Given the description of an element on the screen output the (x, y) to click on. 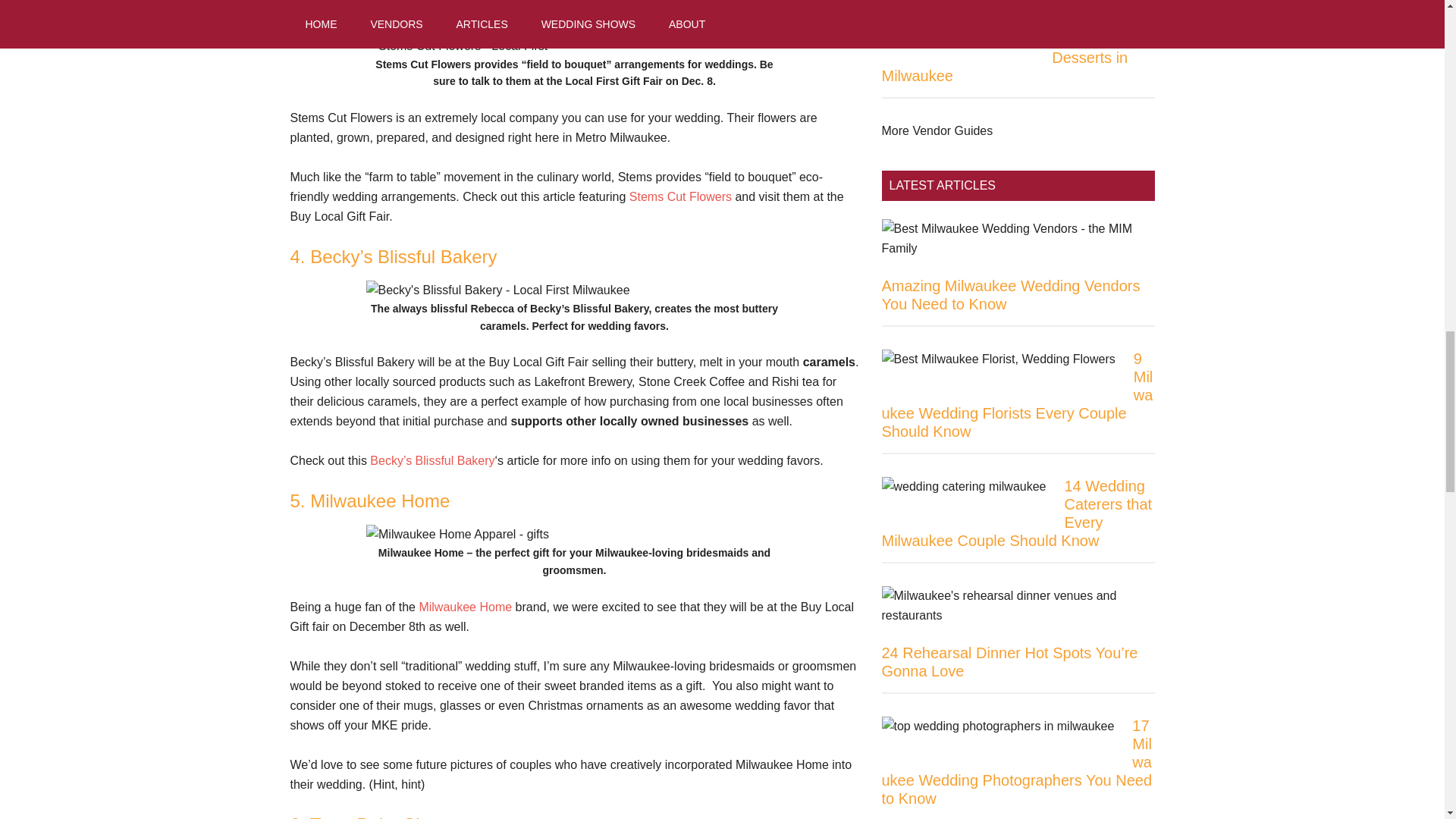
Stems Cut Flowers - Locally Grown Wedding Flowers (680, 196)
Vendor Guides (936, 130)
Becky's Blissful Bakery - Wedding Favors - Milwaukee (432, 460)
